Given the description of an element on the screen output the (x, y) to click on. 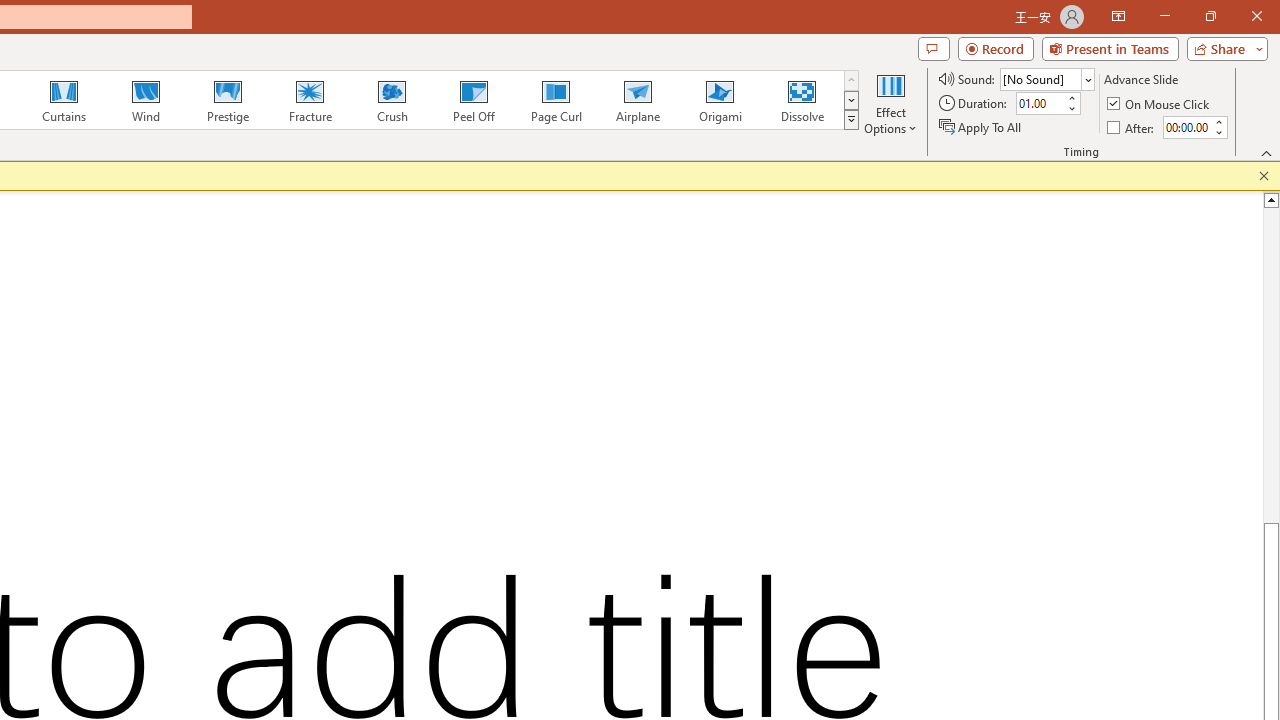
On Mouse Click (1159, 103)
Peel Off (473, 100)
Airplane (637, 100)
Apply To All (981, 126)
Fracture (309, 100)
Origami (719, 100)
Wind (145, 100)
Crush (391, 100)
Prestige (227, 100)
